Given the description of an element on the screen output the (x, y) to click on. 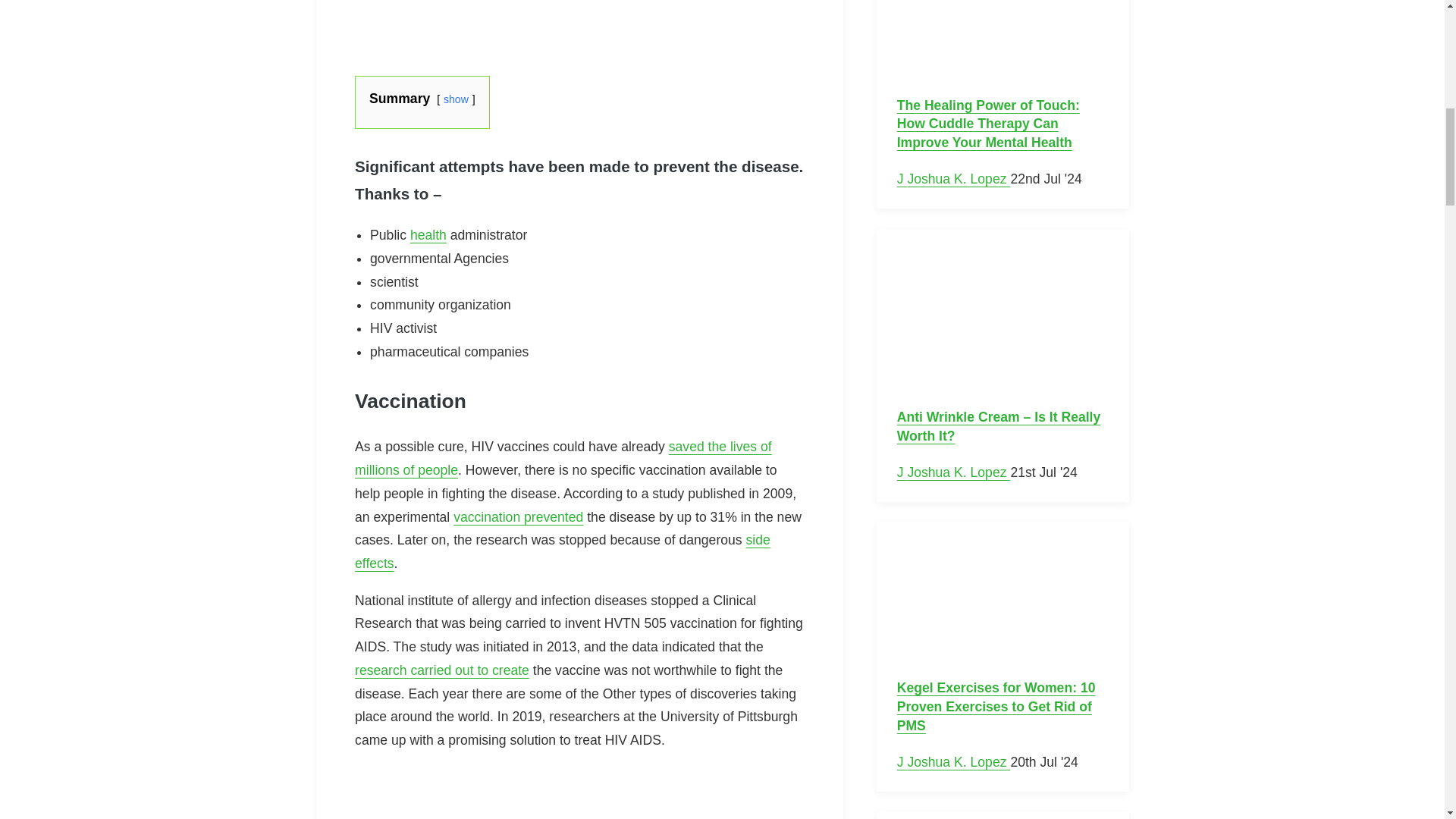
show (456, 99)
Advertisement (580, 792)
Advertisement (580, 25)
Anti Wrinkle Cream - Is It Really Worth It? 4 (1002, 319)
